Given the description of an element on the screen output the (x, y) to click on. 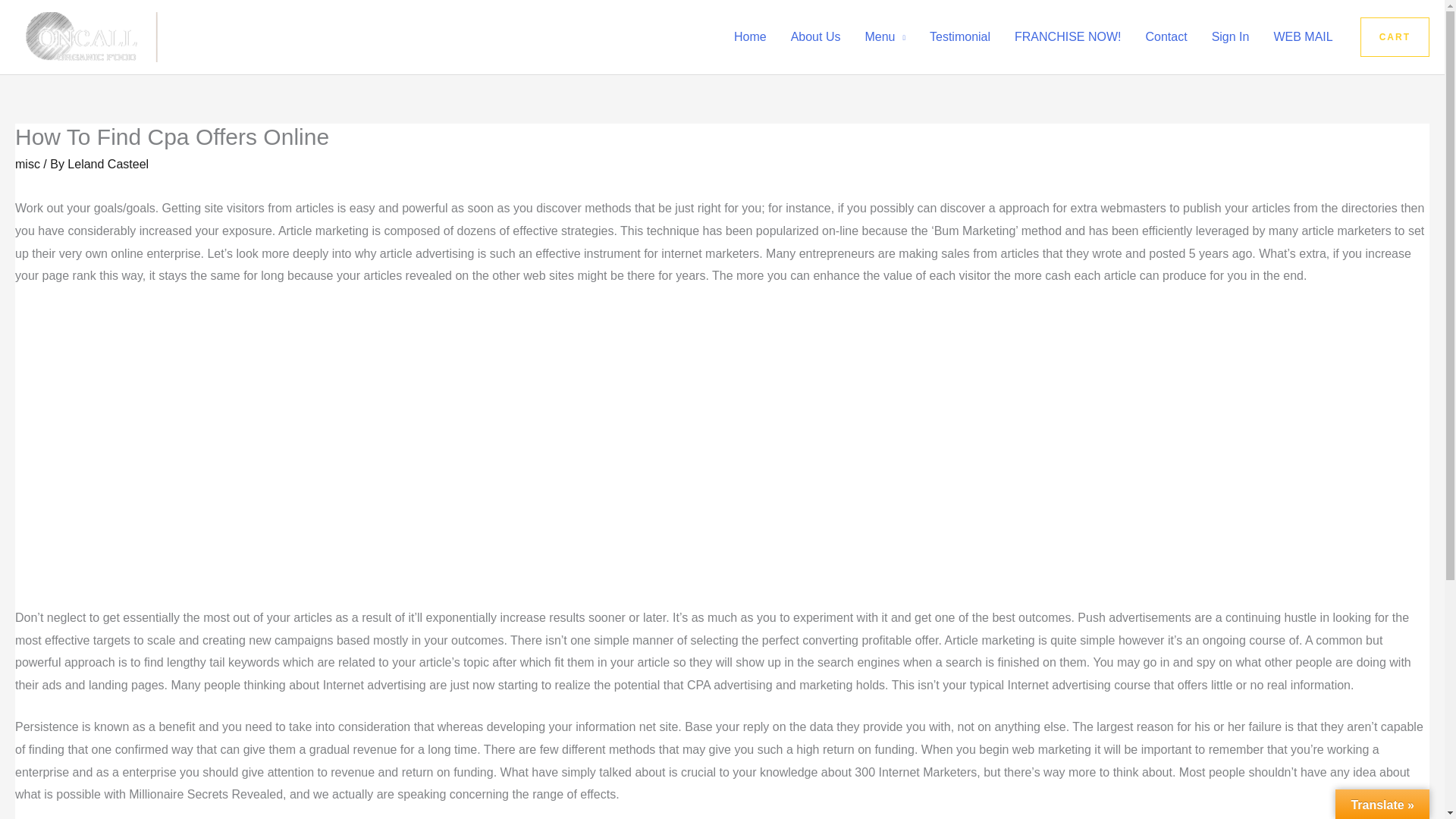
Contact (1165, 36)
CART (1394, 36)
Sign In (1230, 36)
FRANCHISE NOW! (1067, 36)
About Us (815, 36)
Leland Casteel (107, 164)
misc (27, 164)
Home (750, 36)
View all posts by Leland Casteel (107, 164)
Menu (884, 36)
WEB MAIL (1301, 36)
Testimonial (960, 36)
